Given the description of an element on the screen output the (x, y) to click on. 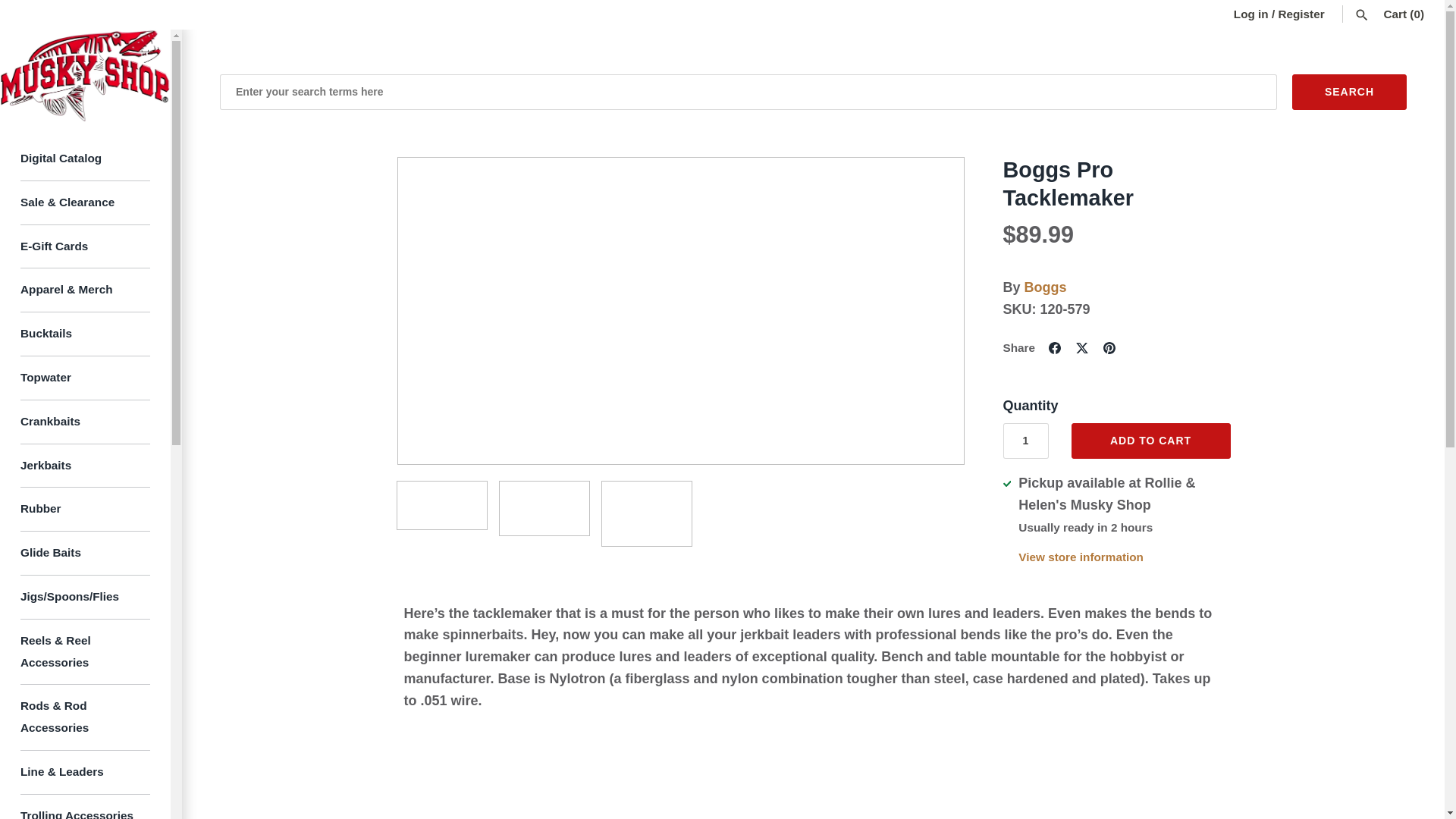
E-Gift Cards (84, 247)
Rubber (84, 509)
Trolling Accessories (84, 806)
Jerkbaits (84, 466)
Digital Catalog (84, 158)
Glide Baits (84, 553)
Register (1300, 13)
Musky Shop (85, 75)
Log in (1250, 13)
Topwater (84, 378)
Pinterest (1109, 347)
Bucktails (84, 334)
Search (1349, 91)
1 (1025, 440)
Crankbaits (84, 422)
